Given the description of an element on the screen output the (x, y) to click on. 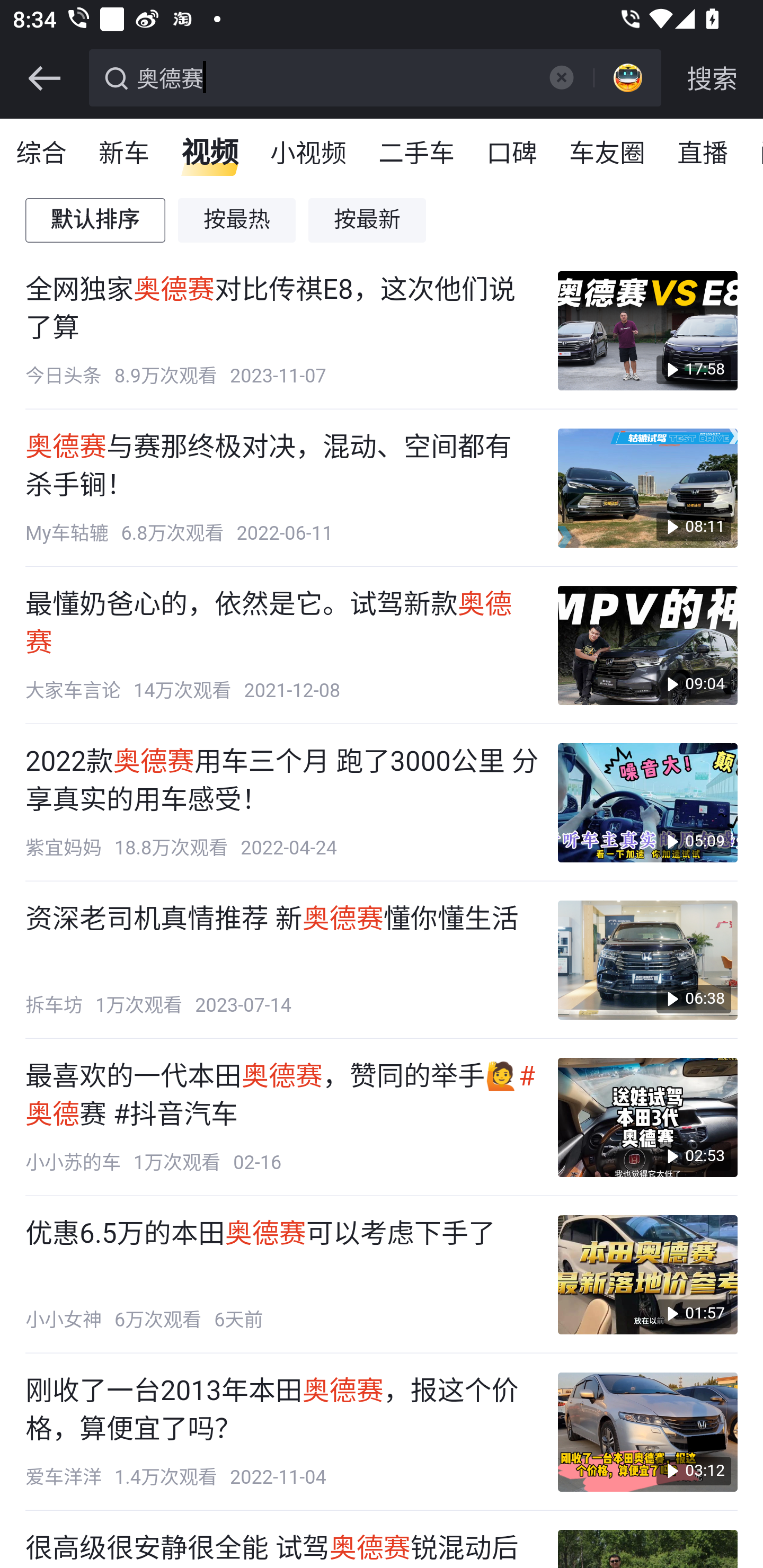
奥德赛 (331, 76)
 (560, 77)
 (44, 78)
搜索 (711, 78)
综合 (41, 153)
新车 (124, 153)
视频 (210, 153)
小视频 (308, 153)
二手车 (417, 153)
口碑 (512, 153)
车友圈 (608, 153)
直播 (703, 153)
默认排序 (96, 220)
按最热 (237, 220)
按最新 (367, 220)
全网独家 奥德赛 对比传祺E8，这次他们说了算 今日头条 8.9万次观看 2023-11-07 (281, 330)
17:58 (647, 330)
奥德赛 与赛那终极对决，混动、空间都有杀手锏！ My车轱辘 6.8万次观看 2022-06-11 (281, 487)
08:11 (647, 487)
最懂奶爸心的，依然是它。试驾新款 奥德赛 大家车言论 14万次观看 2021-12-08 (281, 645)
09:04 (647, 645)
05:09 (647, 802)
资深老司机真情推荐 新 奥德赛 懂你懂生活 拆车坊 1万次观看 2023-07-14 (281, 959)
06:38 (647, 959)
最喜欢的一代本田 奥德赛 ，赞同的举手🙋 #奥德 赛 #抖音汽车 小小苏的车 1万次观看 02-16 (281, 1117)
02:53 (647, 1117)
优惠6.5万的本田 奥德赛 可以考虑下手了 小小女神 6万次观看 6天前 (281, 1274)
01:57 (647, 1274)
03:12 (647, 1431)
很高级很安静很全能 试驾 奥德赛 锐混动后买就完了 (281, 1549)
